Given the description of an element on the screen output the (x, y) to click on. 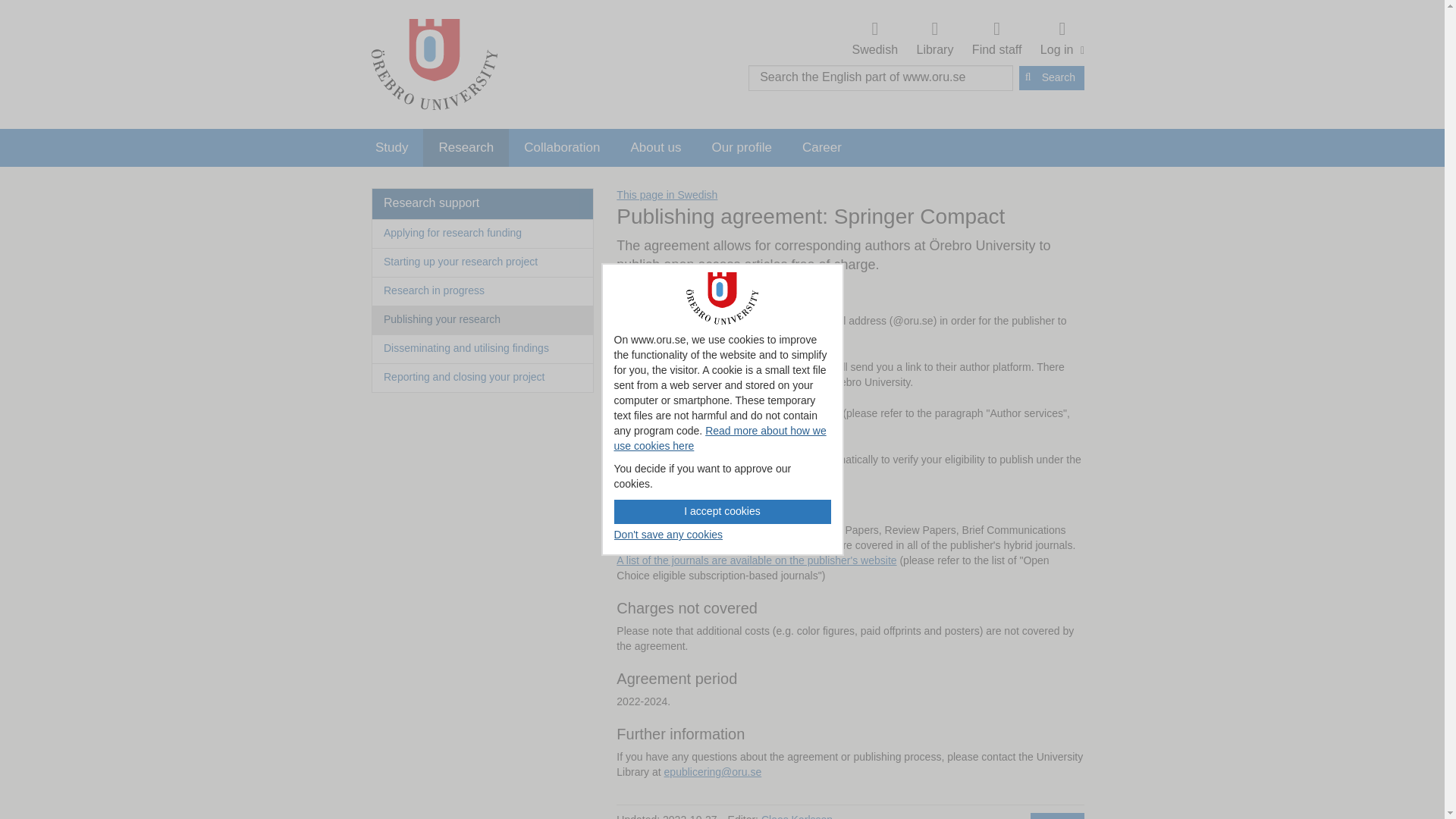
Search (1051, 78)
I accept cookies (722, 511)
Go to Startpage (434, 63)
Swedish (874, 39)
Library (935, 39)
Don't save any cookies (668, 534)
Collaboration (561, 147)
I accept cookies (722, 511)
Don't save any cookies (668, 534)
Career (822, 147)
About us (654, 147)
Read more about how we use cookies here (720, 438)
Research (465, 147)
Study (391, 147)
